Given the description of an element on the screen output the (x, y) to click on. 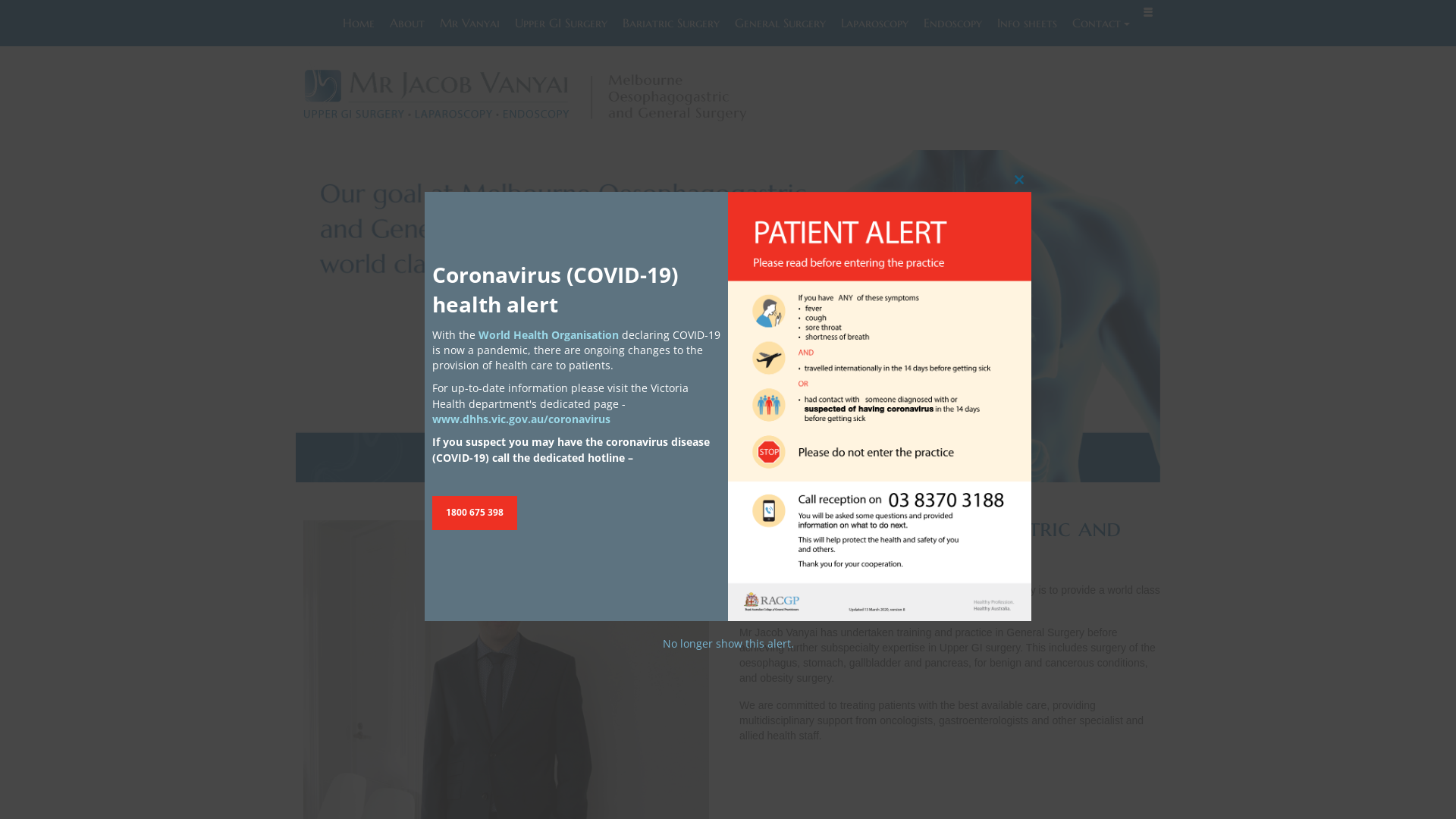
1800 675 398 Element type: text (474, 512)
Bariatric Surgery Element type: text (671, 22)
Close this module Element type: text (1019, 179)
Endoscopy Element type: text (952, 22)
Contact Element type: text (1099, 22)
MELBOURNE OESOPHAGOGASTRIC AND GENERAL SURGERY Element type: hover (528, 95)
General Surgery Element type: text (780, 22)
Info sheets Element type: text (1026, 22)
Upper GI Surgery Element type: text (561, 22)
Home Element type: text (358, 22)
No longer show this alert. Element type: text (727, 643)
About Element type: text (407, 22)
World Health Organisation Element type: text (548, 334)
Laparoscopy Element type: text (874, 22)
www.dhhs.vic.gov.au/coronavirus Element type: text (521, 418)
Mr Vanyai Element type: text (469, 22)
